Given the description of an element on the screen output the (x, y) to click on. 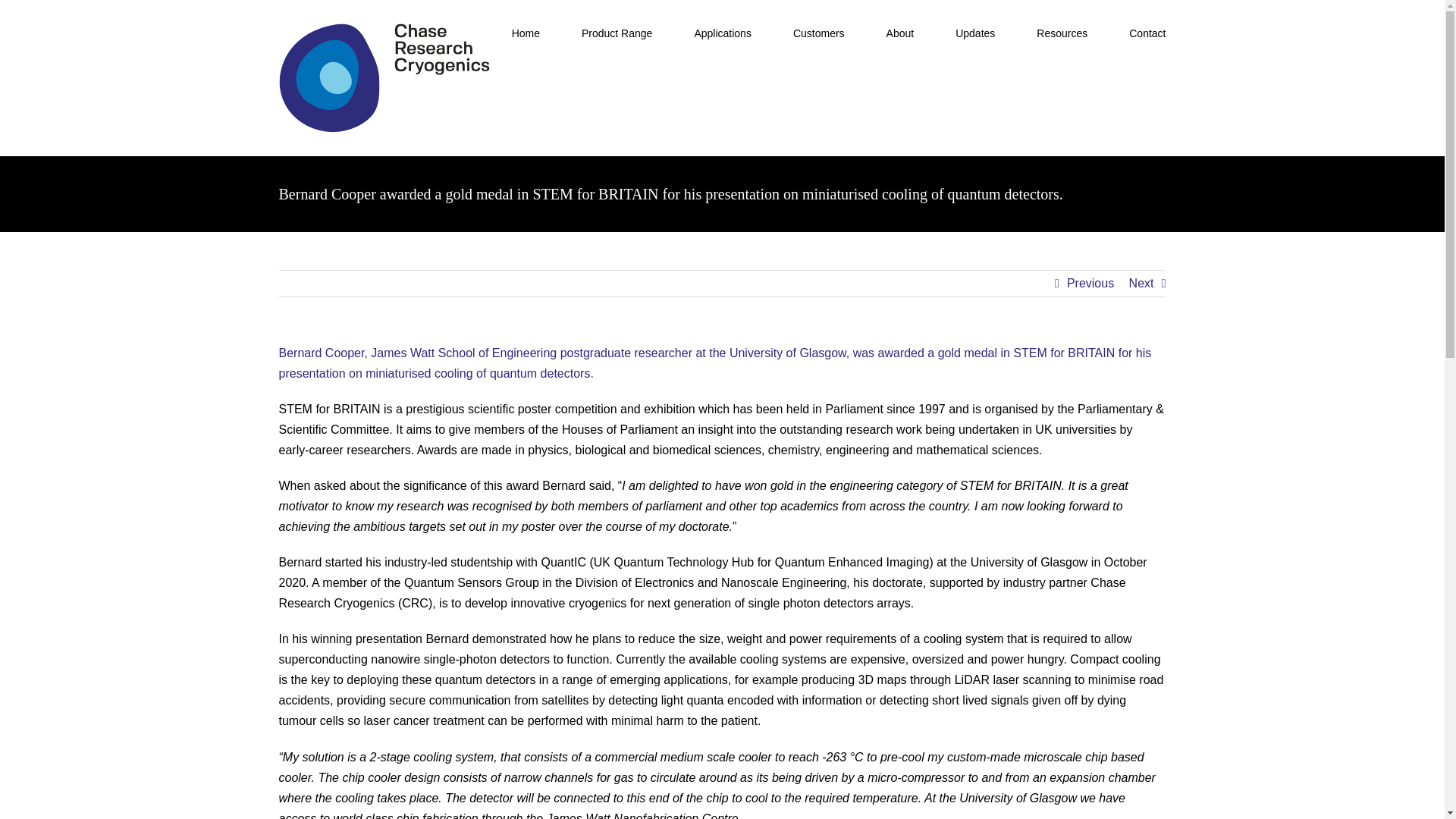
Applications (722, 31)
Product Range (616, 31)
